Given the description of an element on the screen output the (x, y) to click on. 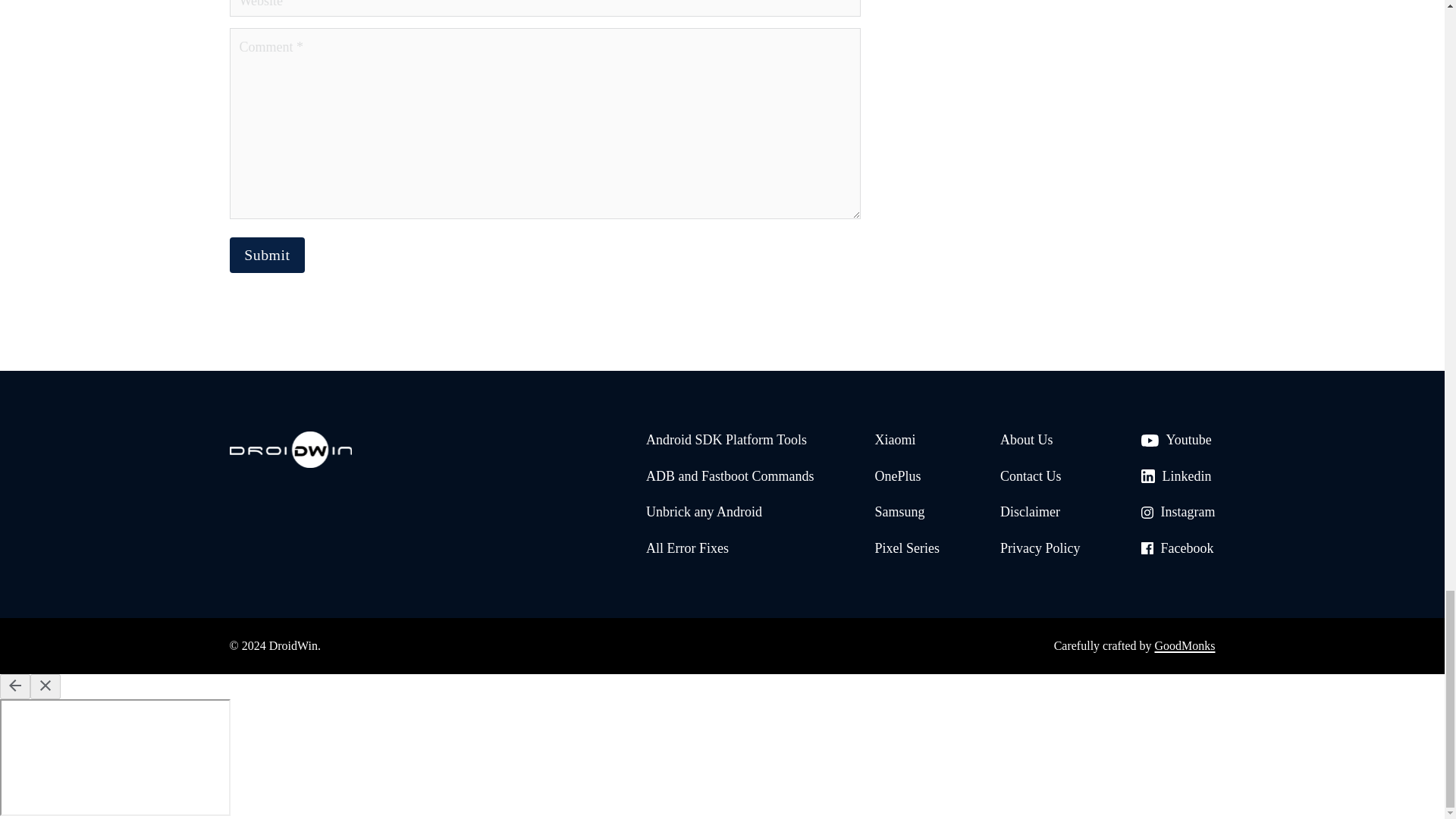
Droidwin (290, 453)
Submit (266, 254)
Submit (266, 254)
